Given the description of an element on the screen output the (x, y) to click on. 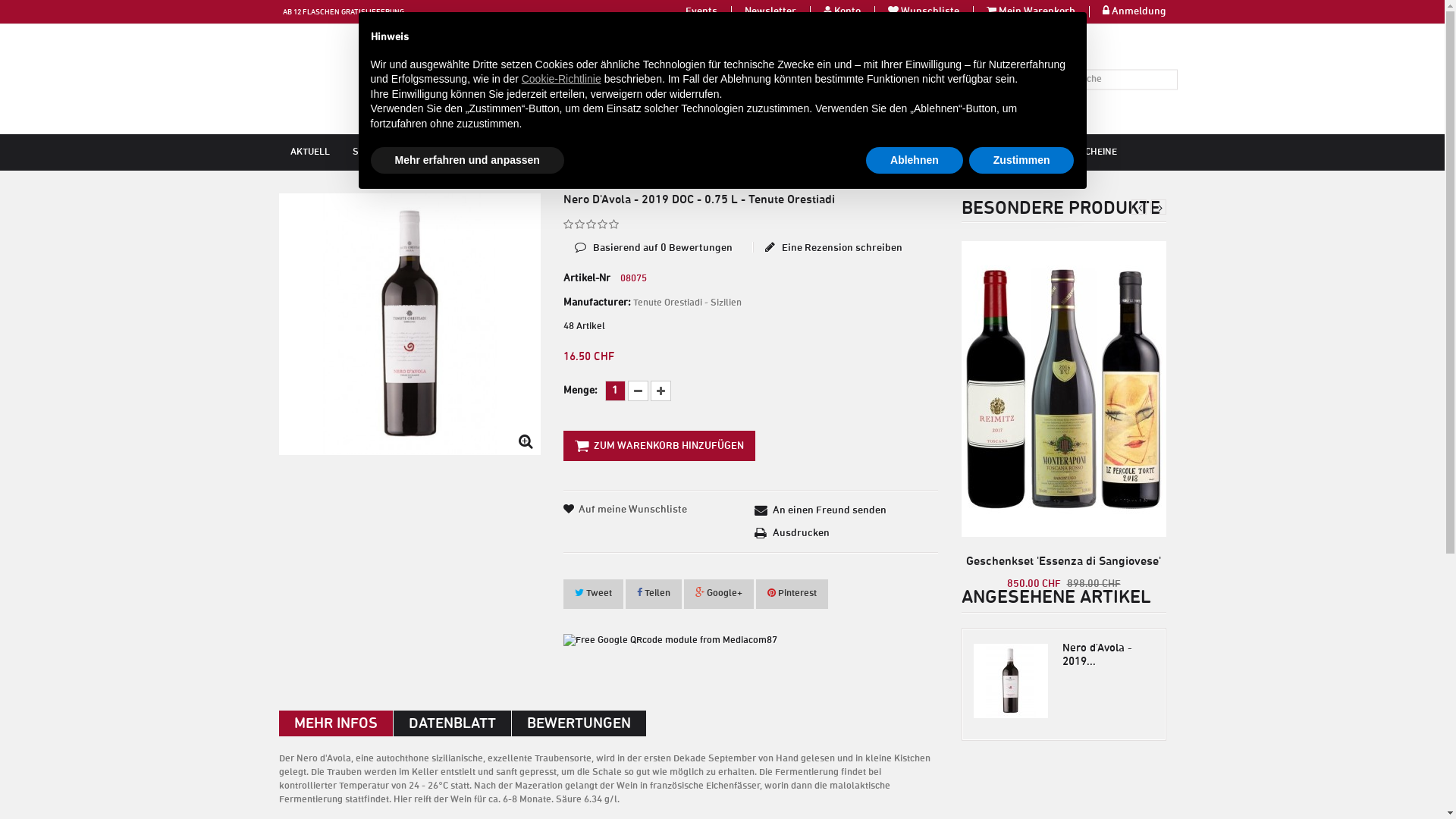
Anmeldung Element type: text (1138, 11)
MEHR INFOS Element type: text (335, 723)
Konto Element type: text (854, 11)
DATENBLATT Element type: text (451, 723)
Geschenkset 'Essenza di Sangiovese' Element type: text (1063, 561)
BIER Element type: text (824, 152)
Cookie-Richtlinie Element type: text (561, 78)
Mehr erfahren und anpassen Element type: text (466, 160)
Tenute Orestiadi - Sizilien Element type: text (686, 302)
DESSERTWEINE Element type: text (606, 152)
AKTUELL Element type: text (310, 152)
Events Element type: text (708, 11)
FOOD Element type: text (869, 152)
Zustimmen Element type: text (1021, 160)
Basierend auf 0 Bewertungen Element type: text (652, 237)
GUTSCHEINE Element type: text (1088, 152)
Geschenkset 'Essenza di Sangiovese' Element type: hover (1063, 388)
Ausdrucken Element type: text (791, 532)
BEWERTUNGEN Element type: text (578, 723)
Nero d'Avola - 2015 IGP - 0.75 l  -  Tenute Orestiadi Element type: hover (409, 324)
SCHAUMWEIN Element type: text (382, 152)
Google+ Element type: text (718, 593)
Mein Warenkorb Element type: text (1042, 11)
An einen Freund senden Element type: text (820, 509)
Auf meine Wunschliste Element type: text (631, 509)
Ablehnen Element type: text (914, 160)
Eine Rezension schreiben Element type: text (832, 246)
RESTPOSTEN Element type: text (933, 152)
ROT Element type: text (541, 152)
Teilen Element type: text (652, 593)
Nero d'Avola - 2019... Element type: text (1096, 654)
Tweet Element type: text (592, 593)
Pinterest Element type: text (791, 593)
SPIRITUOSEN Element type: text (763, 152)
Next Element type: text (1158, 206)
Prev Element type: text (1138, 206)
Newsletter Element type: text (776, 11)
WEISS Element type: text (449, 152)
Wunschliste Element type: text (936, 11)
GESCHENKE Element type: text (1011, 152)
